Given the description of an element on the screen output the (x, y) to click on. 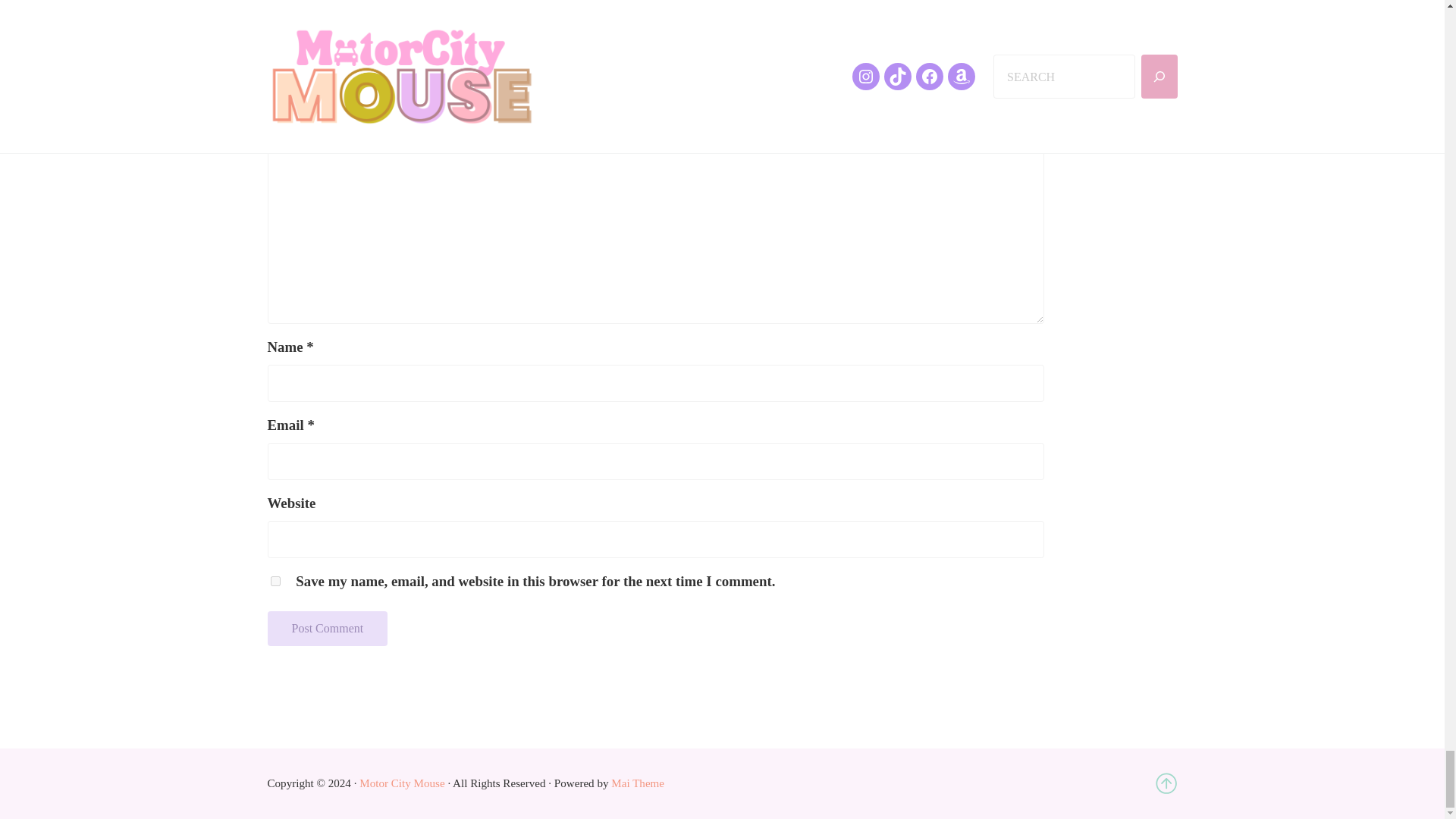
yes (274, 581)
Post Comment (326, 628)
